Given the description of an element on the screen output the (x, y) to click on. 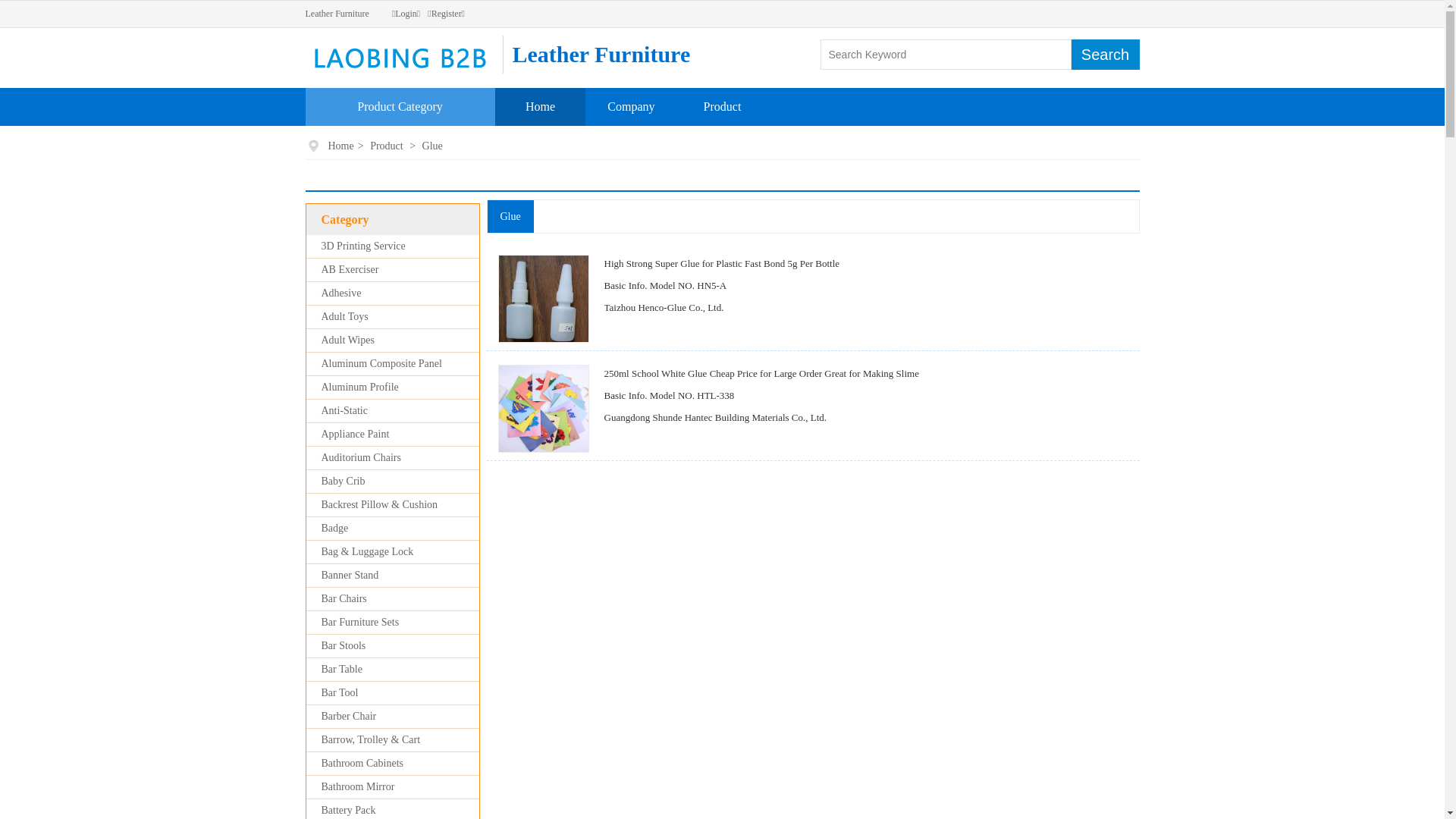
Product Element type: text (387, 145)
Battery Pack Element type: text (348, 809)
Auditorium Chairs Element type: text (361, 457)
Anti-Static Element type: text (344, 410)
Banner Stand Element type: text (350, 574)
High Strong Super Glue for Plastic Fast Bond 5g Per Bottle Element type: text (721, 263)
Adult Wipes Element type: text (347, 339)
Backrest Pillow & Cushion Element type: text (379, 504)
Appliance Paint Element type: text (355, 433)
Product Category Element type: text (399, 106)
Taizhou Henco-Glue Co., Ltd. Element type: text (663, 307)
Barrow, Trolley & Cart Element type: text (370, 739)
3D Printing Service Element type: text (363, 245)
Bag & Luggage Lock Element type: text (367, 551)
Bar Stools Element type: text (343, 645)
Bar Tool Element type: text (339, 692)
Aluminum Profile Element type: text (359, 386)
Adult Toys Element type: text (344, 316)
Bar Chairs Element type: text (344, 598)
Leather Furniture Element type: text (336, 13)
Bar Furniture Sets Element type: text (360, 621)
AB Exerciser Element type: text (350, 269)
Guangdong Shunde Hantec Building Materials Co., Ltd. Element type: text (714, 417)
Aluminum Composite Panel Element type: text (381, 363)
Product Element type: text (722, 106)
Adhesive Element type: text (341, 292)
Company Element type: text (630, 106)
Barber Chair Element type: text (348, 715)
Bathroom Mirror Element type: text (358, 786)
Glue Element type: text (432, 145)
Bar Table Element type: text (341, 668)
Home Element type: text (540, 106)
Badge Element type: text (334, 527)
Bathroom Cabinets Element type: text (362, 762)
Baby Crib Element type: text (343, 480)
Search Element type: text (1104, 54)
Home Element type: text (340, 145)
